Given the description of an element on the screen output the (x, y) to click on. 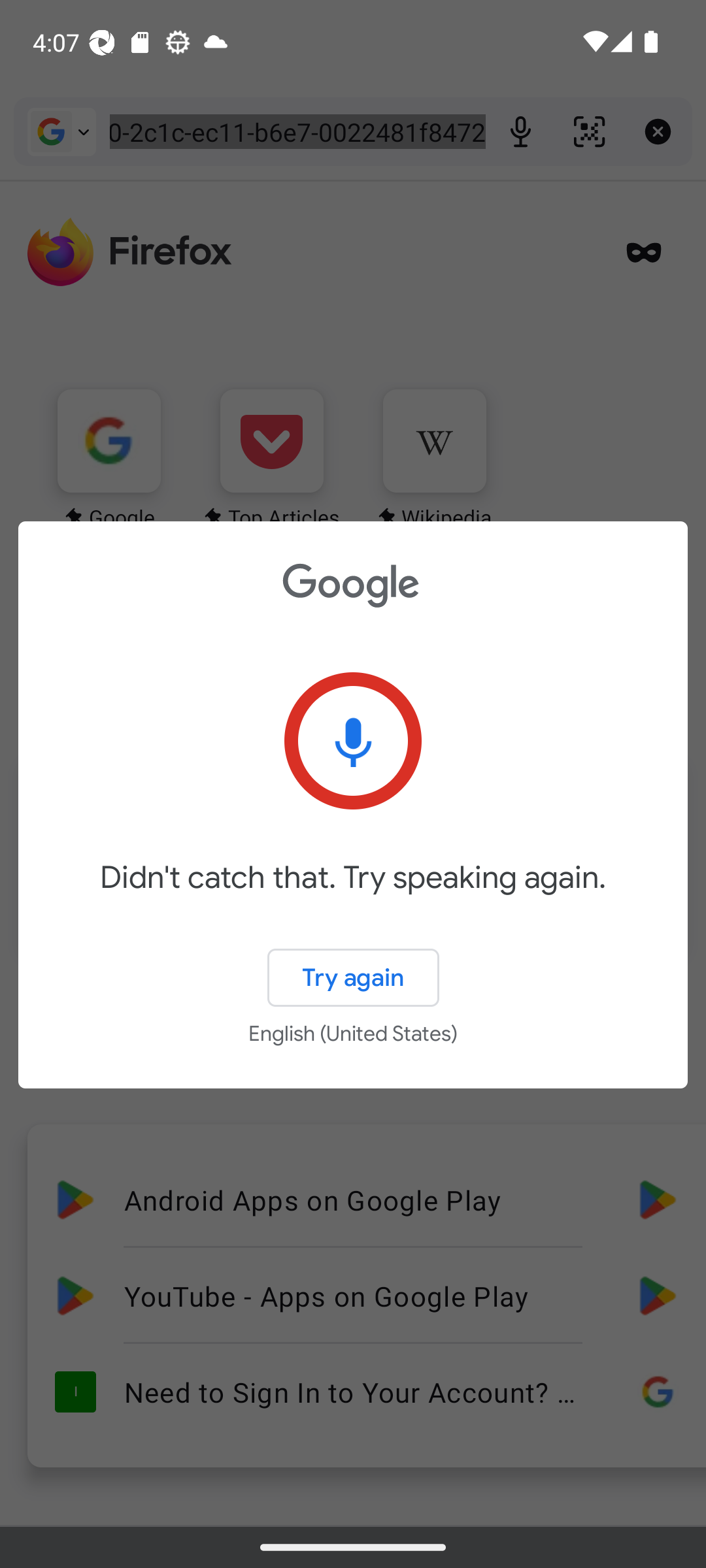
Tap to try again (353, 740)
Try again (353, 977)
